Given the description of an element on the screen output the (x, y) to click on. 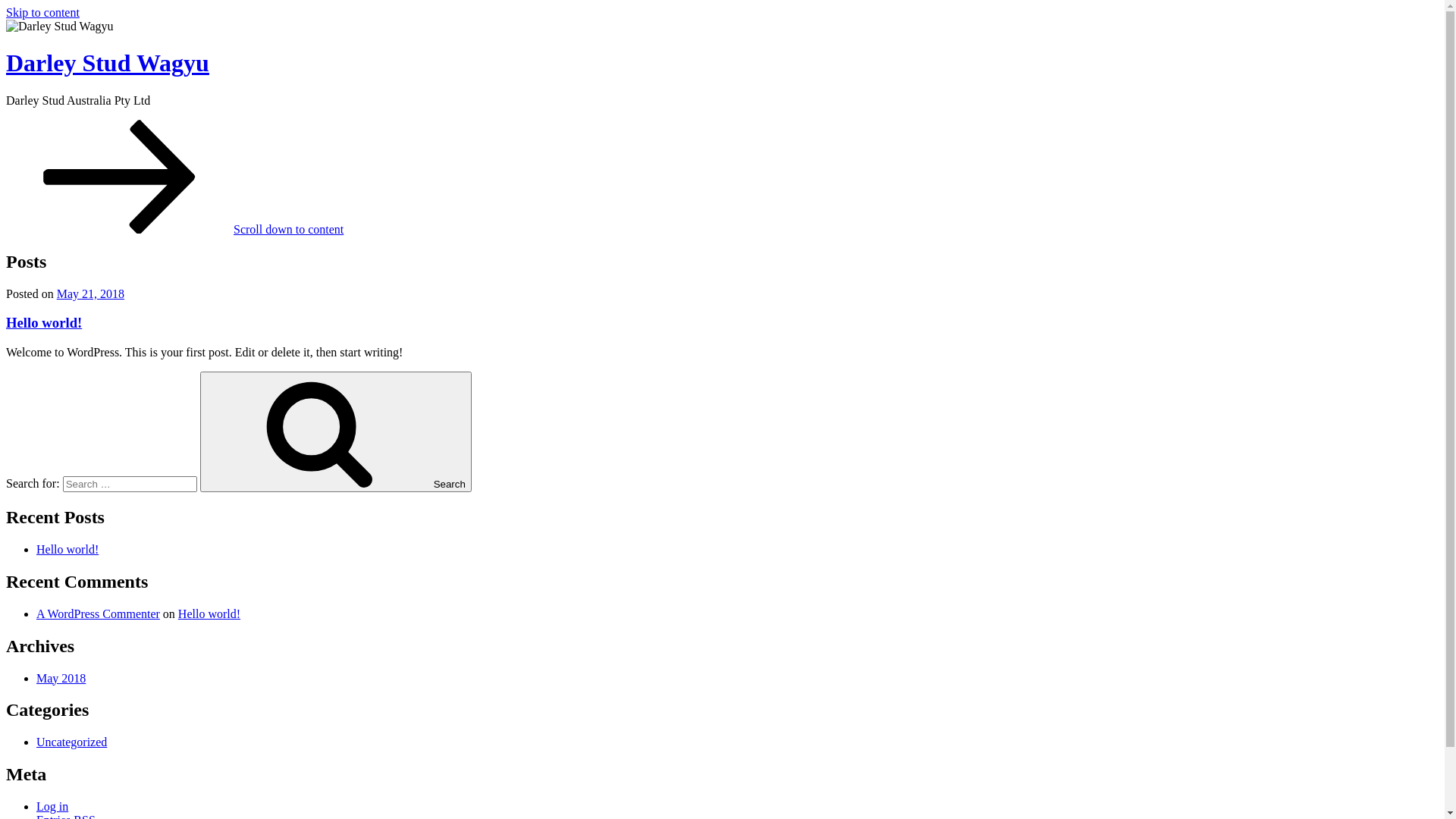
May 2018 Element type: text (60, 677)
Skip to content Element type: text (42, 12)
Hello world! Element type: text (209, 613)
Scroll down to content Element type: text (174, 228)
Hello world! Element type: text (43, 322)
A WordPress Commenter Element type: text (98, 613)
Search Element type: text (335, 431)
Darley Stud Wagyu Element type: text (107, 62)
Log in Element type: text (52, 806)
May 21, 2018 Element type: text (90, 293)
Uncategorized Element type: text (71, 741)
Hello world! Element type: text (67, 548)
